Given the description of an element on the screen output the (x, y) to click on. 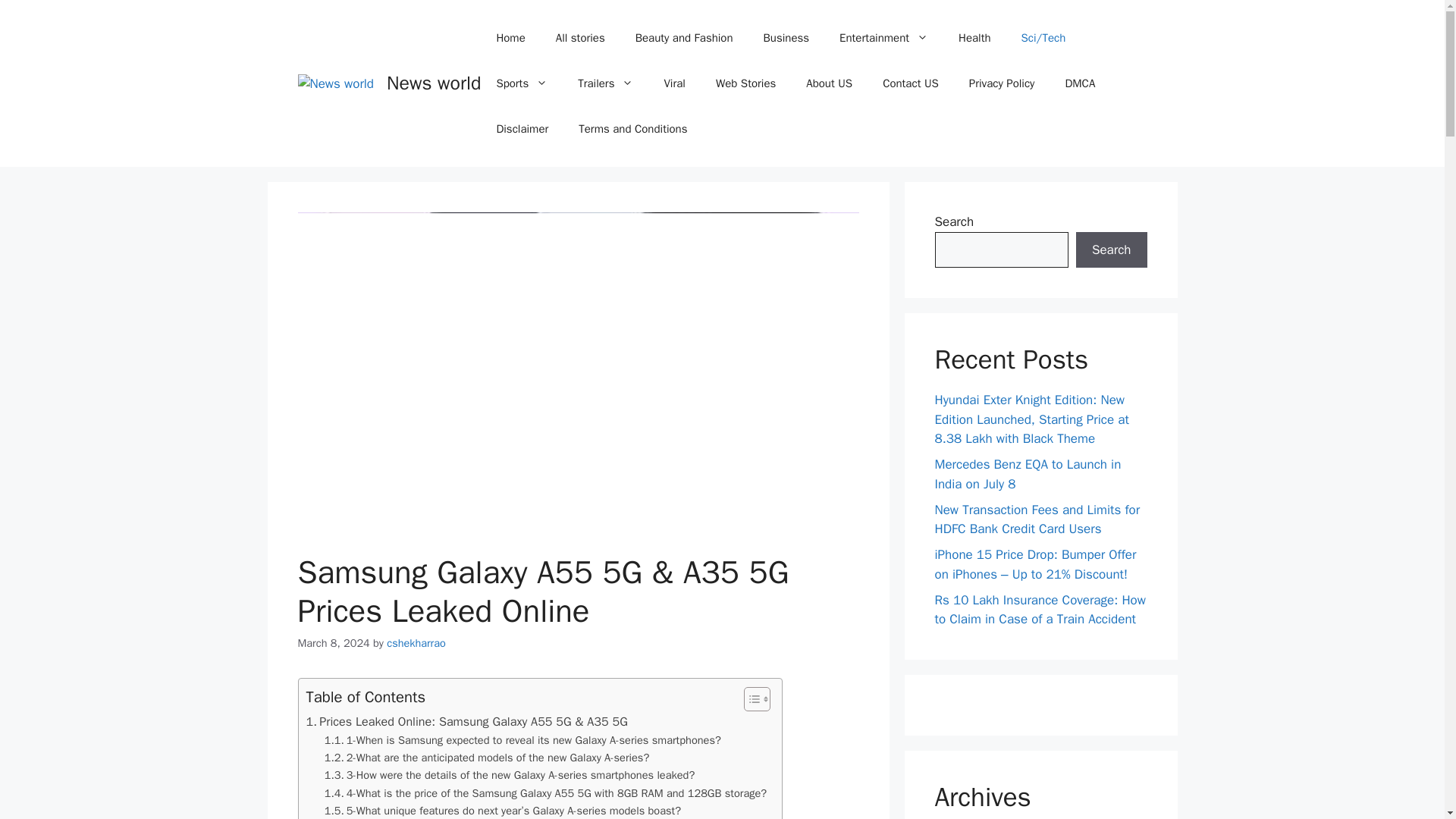
Privacy Policy (1001, 83)
All stories (580, 37)
Disclaimer (521, 128)
Web Stories (745, 83)
DMCA (1079, 83)
News world (433, 83)
Contact US (910, 83)
Entertainment (883, 37)
Home (510, 37)
